Given the description of an element on the screen output the (x, y) to click on. 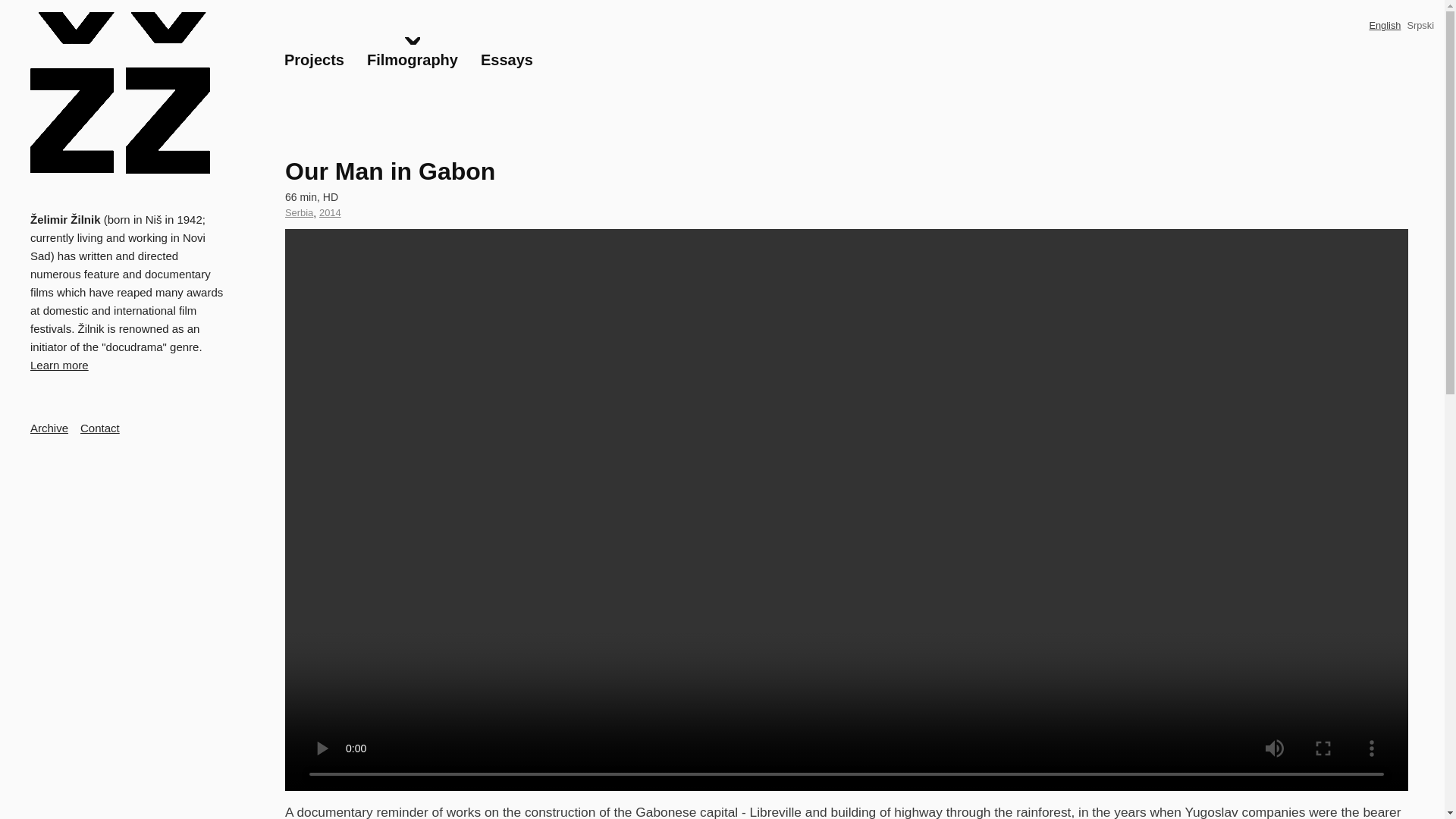
English (1384, 25)
Home (120, 93)
Learn more (59, 364)
Srpski (299, 213)
Skip to main content (1420, 25)
Biography (721, 1)
Filmography (65, 224)
Essays (412, 59)
Archive (507, 59)
Projects (49, 427)
Biography (314, 59)
Contact (329, 213)
